Given the description of an element on the screen output the (x, y) to click on. 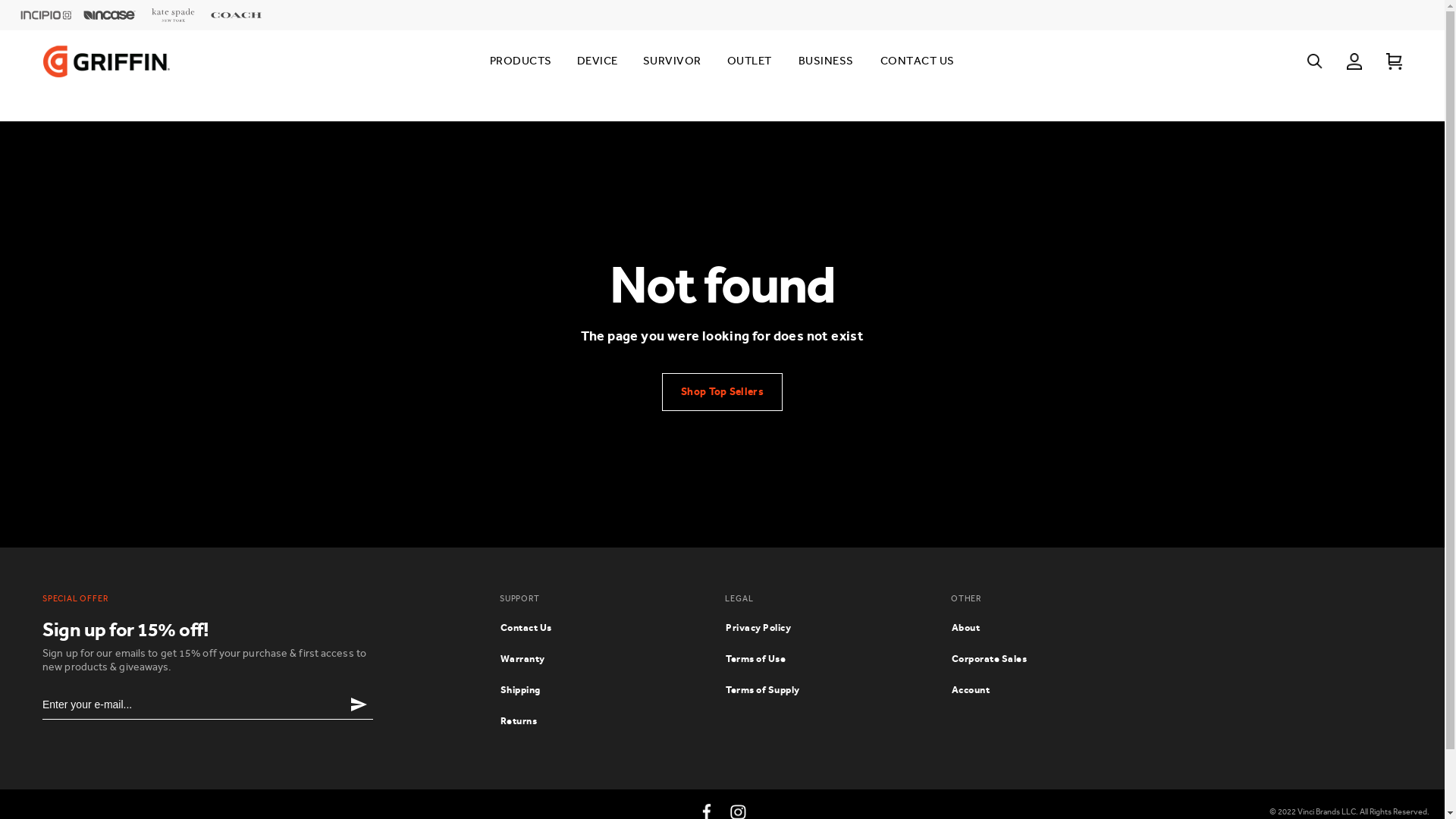
Shop Top Sellers Element type: text (722, 392)
Terms of Supply Element type: text (762, 689)
Terms of Use Element type: text (755, 658)
Privacy Policy Element type: text (757, 627)
Sign Up Element type: text (358, 704)
DEVICE Element type: text (597, 61)
Number of items in cart Element type: hover (1393, 61)
Warranty Element type: text (522, 658)
BUSINESS Element type: text (825, 61)
Corporate Sales Element type: text (989, 658)
About Element type: text (965, 627)
OUTLET Element type: text (748, 61)
Account Element type: text (970, 689)
Contact Us Element type: text (525, 627)
Returns Element type: text (518, 720)
Search Element type: hover (1314, 61)
SURVIVOR Element type: text (671, 61)
CONTACT US Element type: text (916, 61)
Shipping Element type: text (520, 689)
PRODUCTS Element type: text (519, 61)
